Given the description of an element on the screen output the (x, y) to click on. 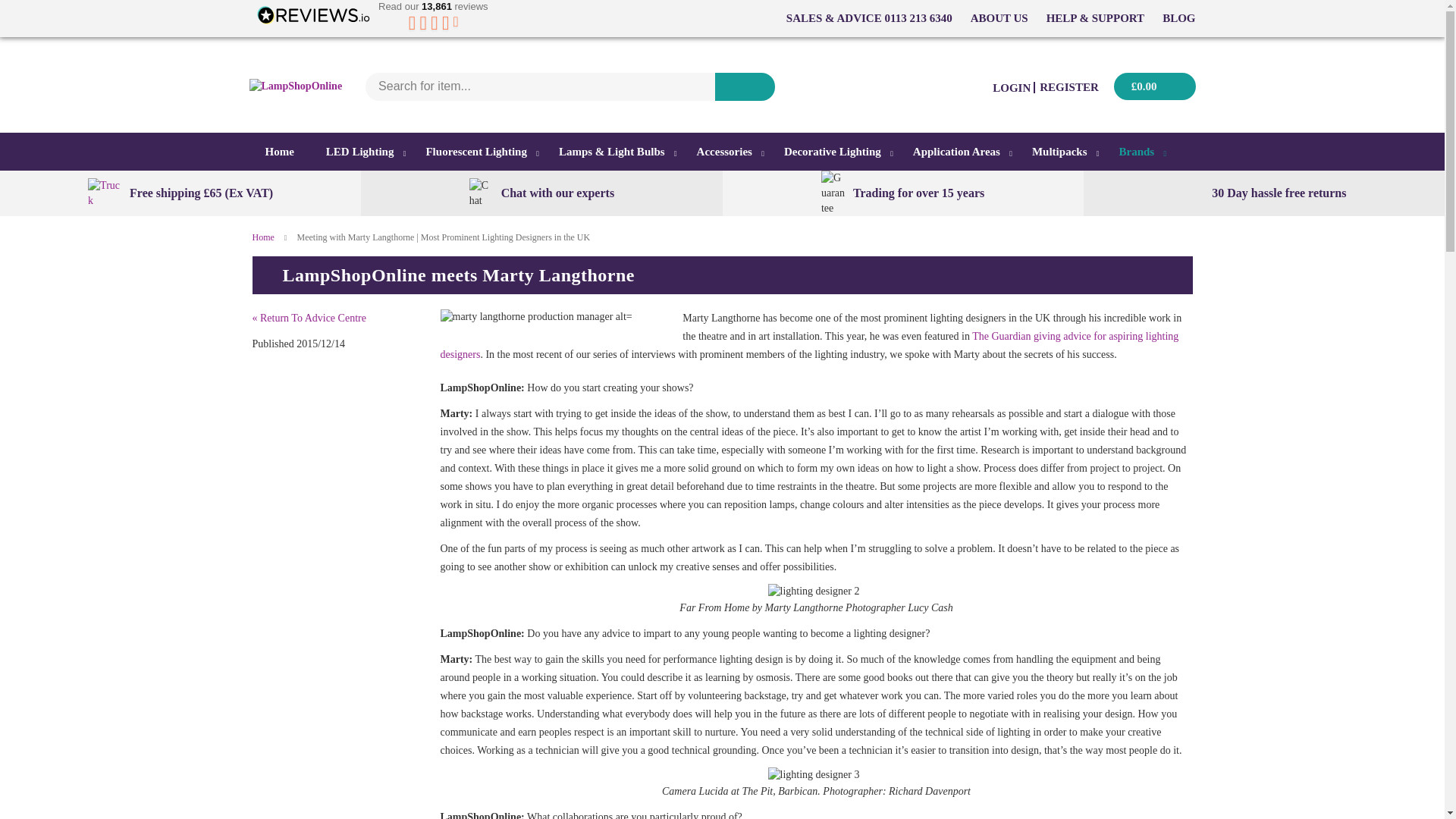
REGISTER (1069, 87)
SEARCH (744, 86)
BLOG (1178, 18)
LOGIN (1011, 87)
Reviews Badge Ribbon Widget (370, 19)
Search (744, 86)
LampShopOnline (295, 86)
ABOUT US (999, 18)
